Given the description of an element on the screen output the (x, y) to click on. 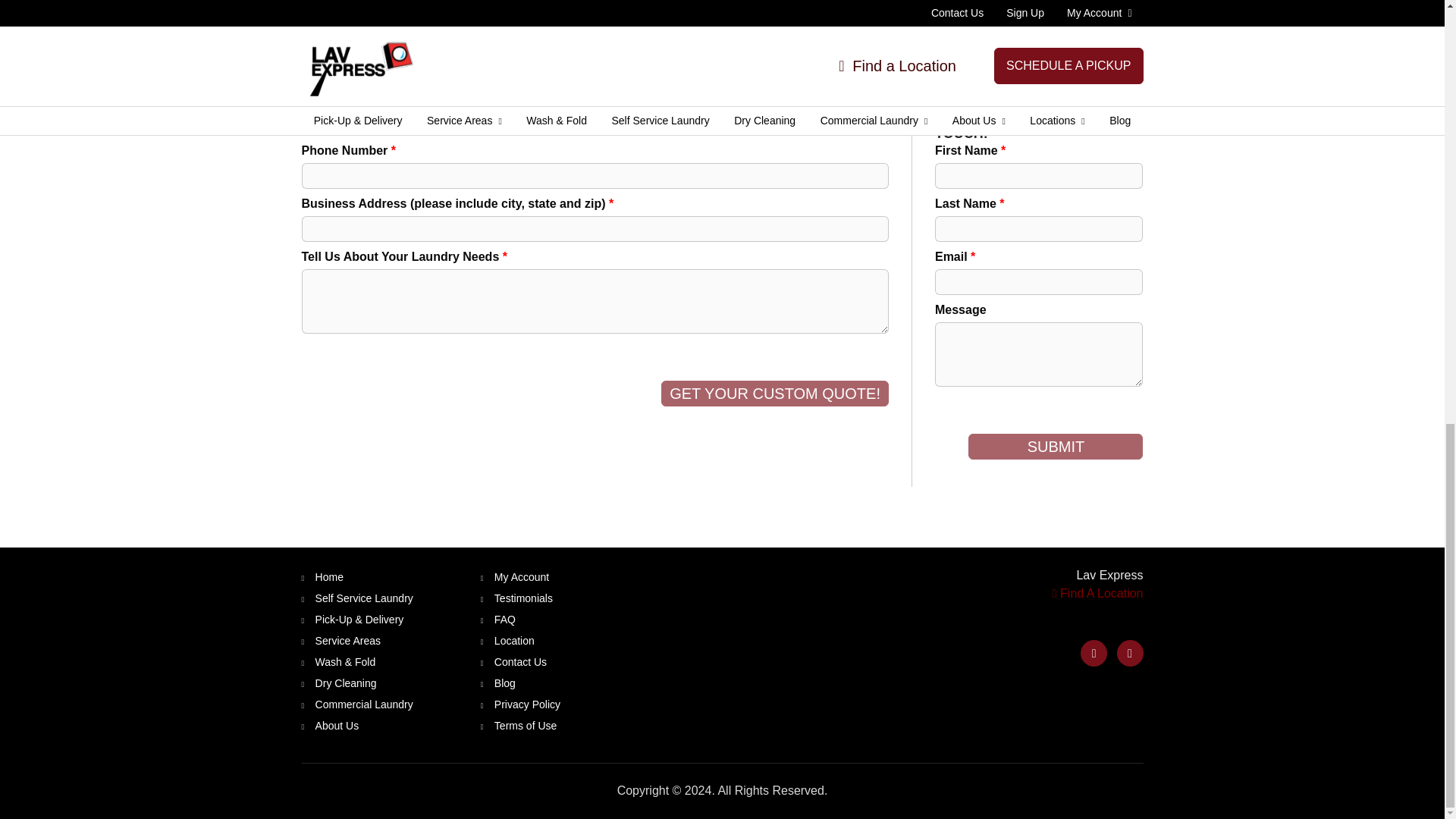
GET YOUR CUSTOM QUOTE! (774, 393)
Submit (1055, 446)
